Given the description of an element on the screen output the (x, y) to click on. 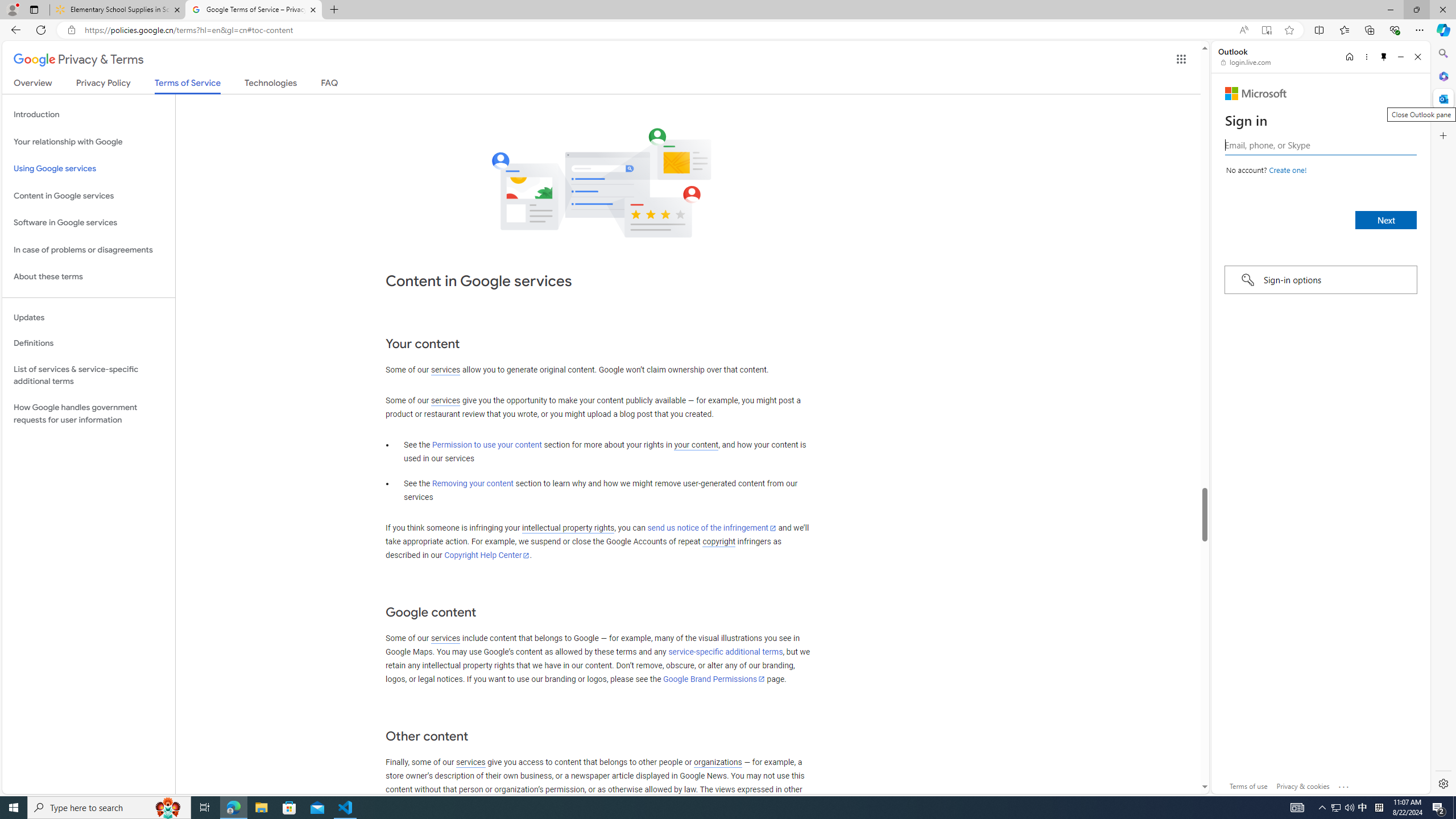
Enter your email, phone, or Skype. (1320, 145)
Close Search pane (1442, 53)
Privacy & cookies (1302, 785)
